Given the description of an element on the screen output the (x, y) to click on. 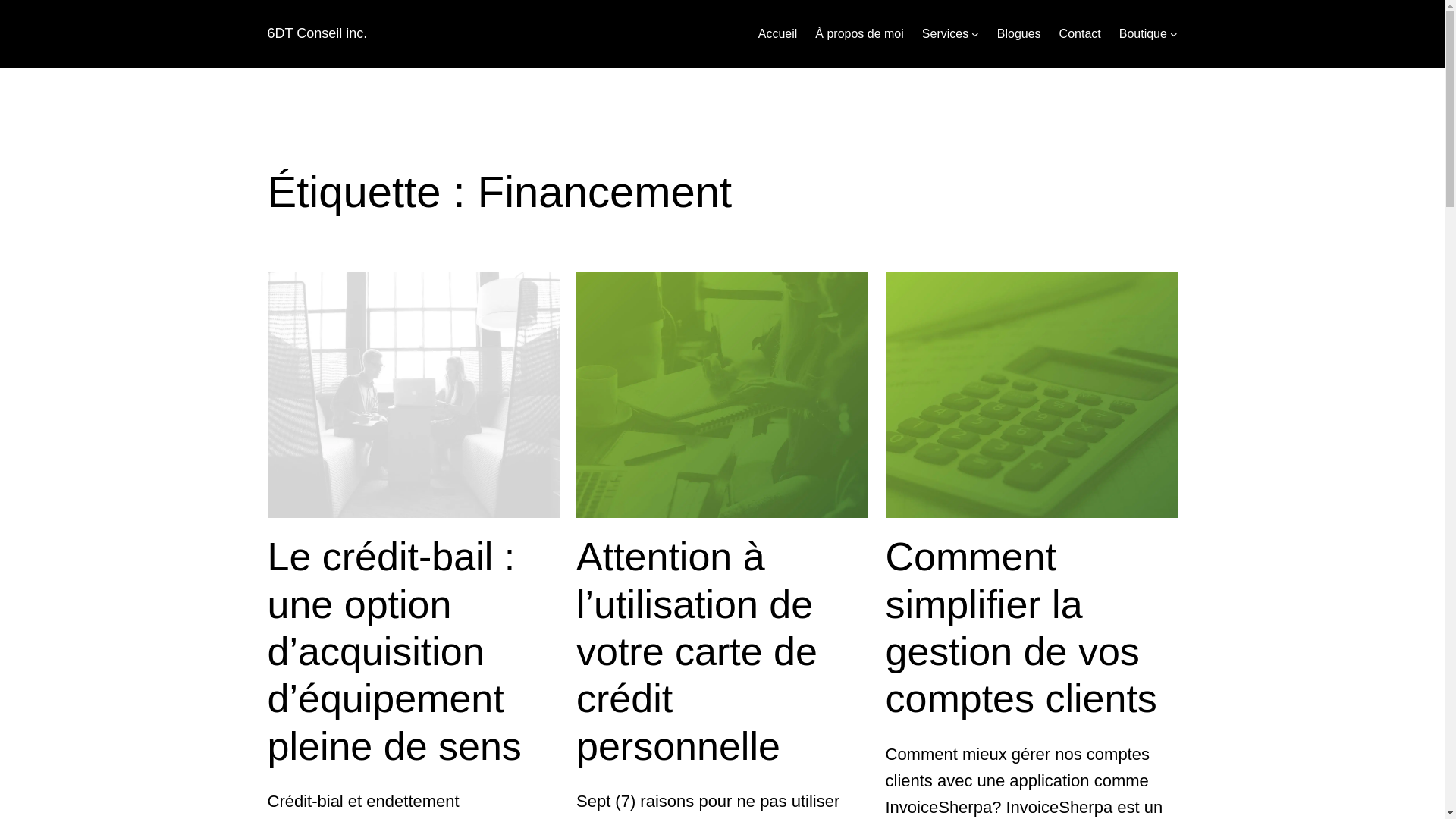
Blogues Element type: text (1019, 33)
Services Element type: text (945, 33)
6DT Conseil inc. Element type: text (316, 32)
Comment simplifier la gestion de vos comptes clients Element type: text (1031, 627)
Accueil Element type: text (777, 33)
Boutique Element type: text (1143, 33)
Contact Element type: text (1080, 33)
